Given the description of an element on the screen output the (x, y) to click on. 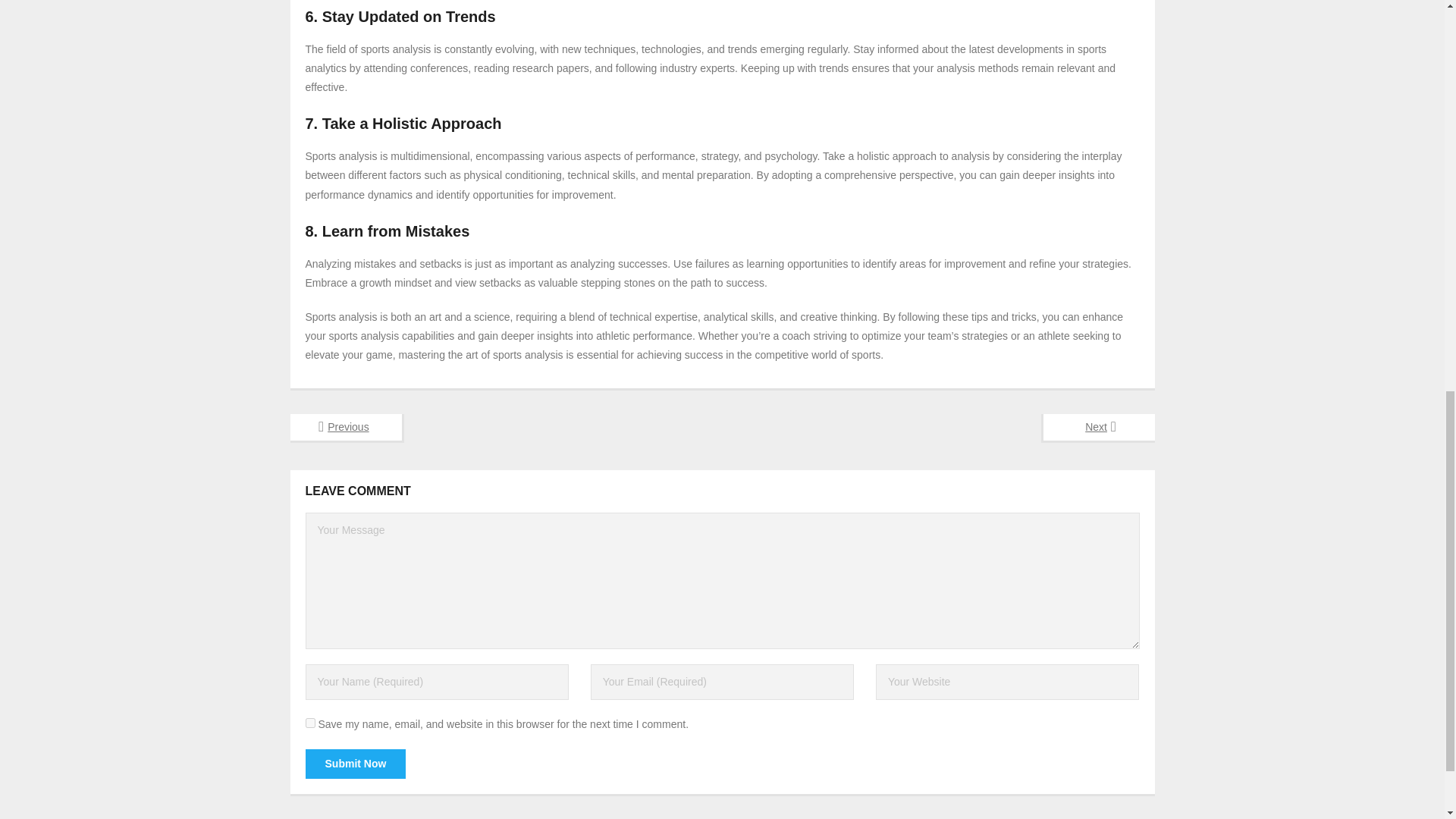
yes (309, 723)
Submit Now (355, 763)
